Given the description of an element on the screen output the (x, y) to click on. 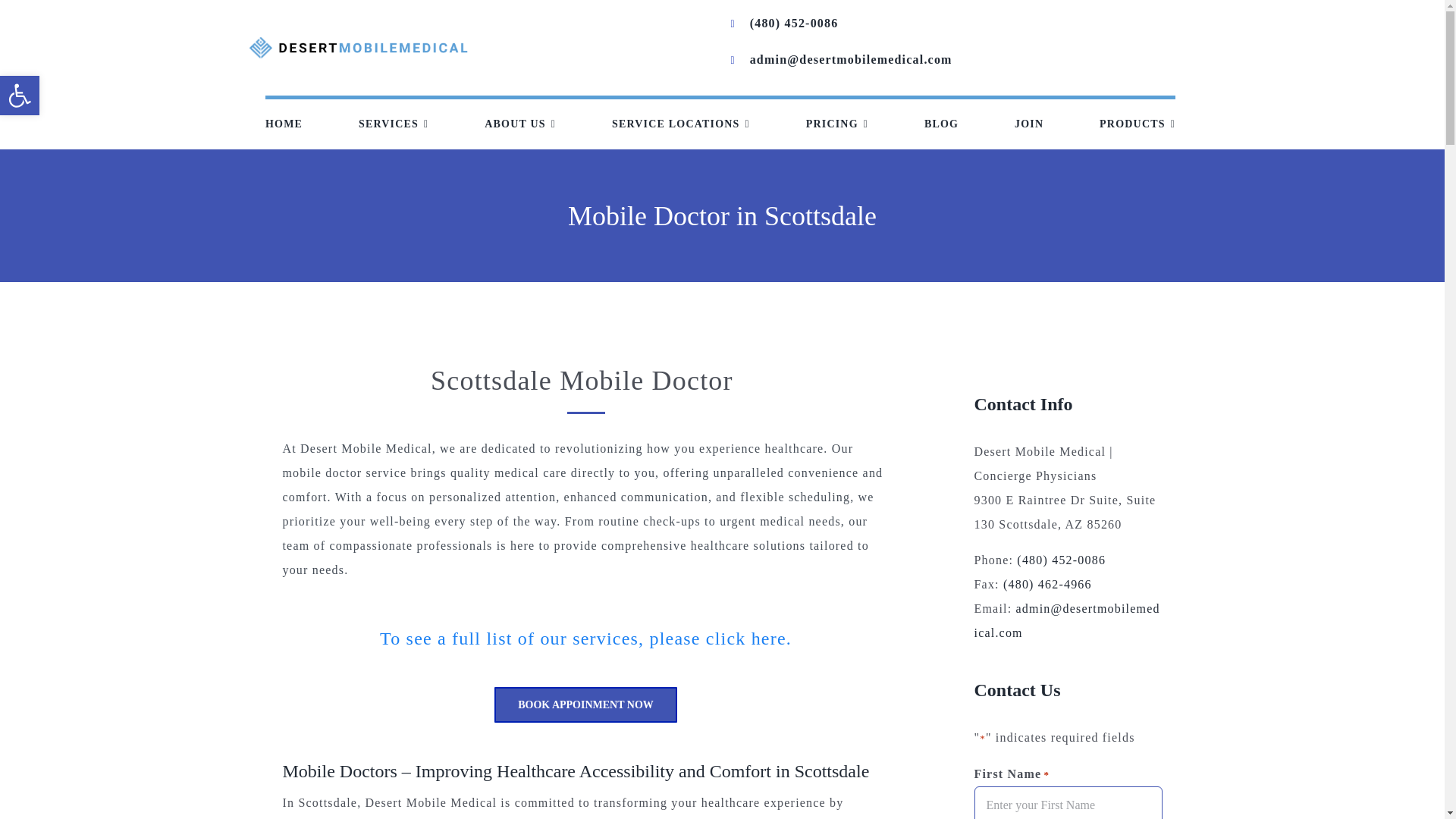
SERVICES (393, 124)
ABOUT US (520, 124)
Accessibility Tools (19, 95)
Accessibility Tools (19, 95)
